Given the description of an element on the screen output the (x, y) to click on. 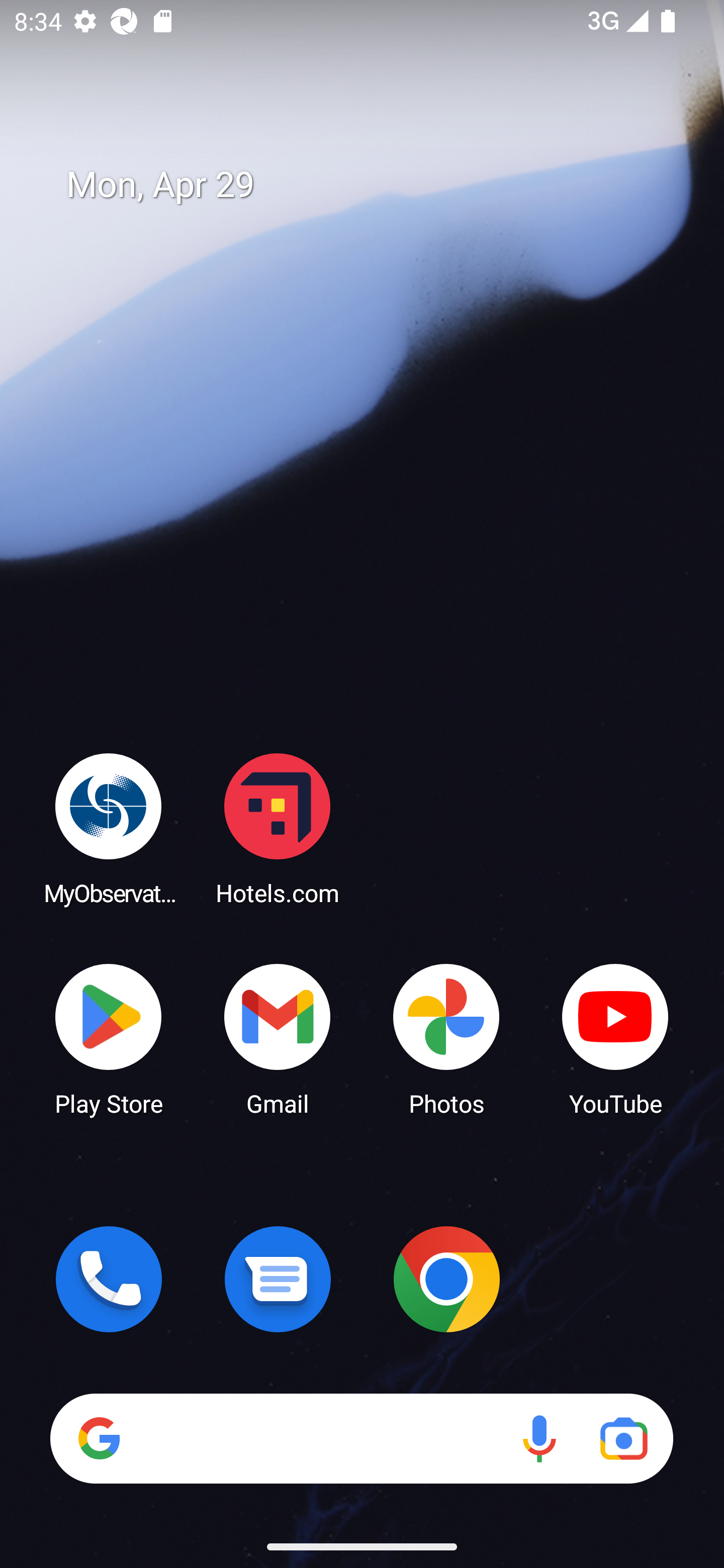
Mon, Apr 29 (375, 184)
MyObservatory (108, 828)
Hotels.com (277, 828)
Play Store (108, 1038)
Gmail (277, 1038)
Photos (445, 1038)
YouTube (615, 1038)
Phone (108, 1279)
Messages (277, 1279)
Chrome (446, 1279)
Search Voice search Google Lens (361, 1438)
Voice search (539, 1438)
Google Lens (623, 1438)
